Given the description of an element on the screen output the (x, y) to click on. 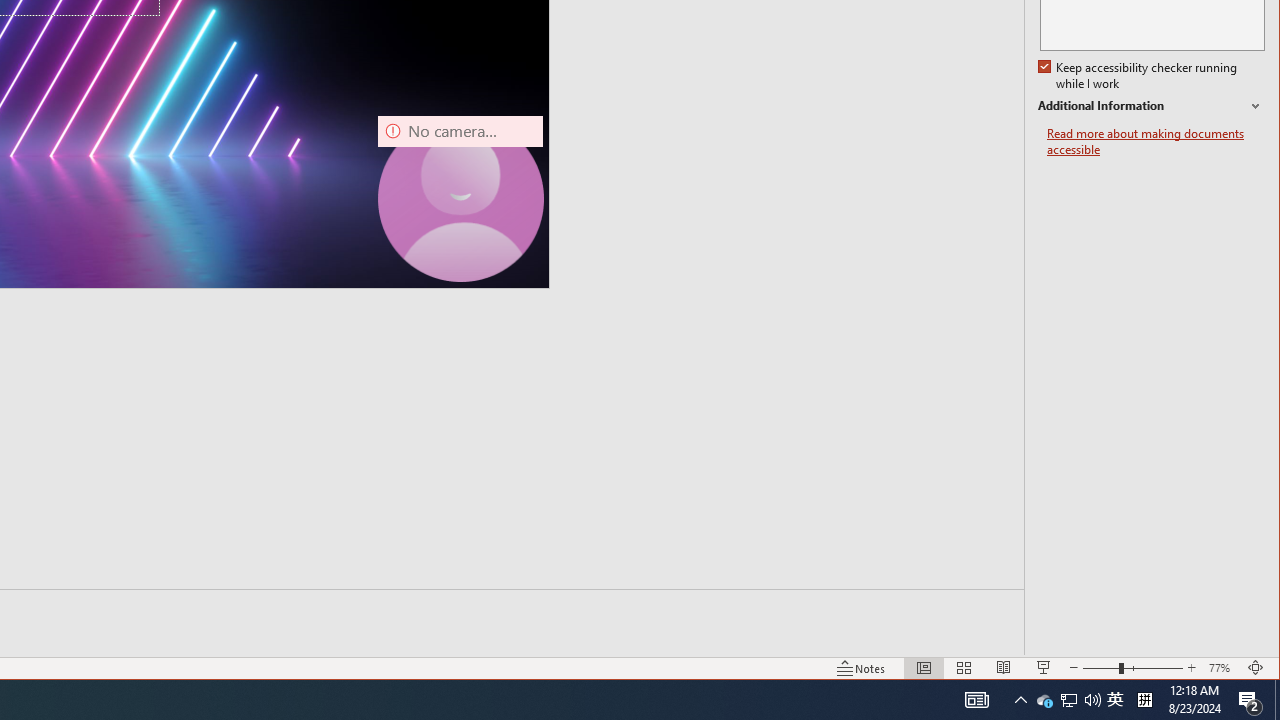
Zoom 77% (1222, 668)
